Given the description of an element on the screen output the (x, y) to click on. 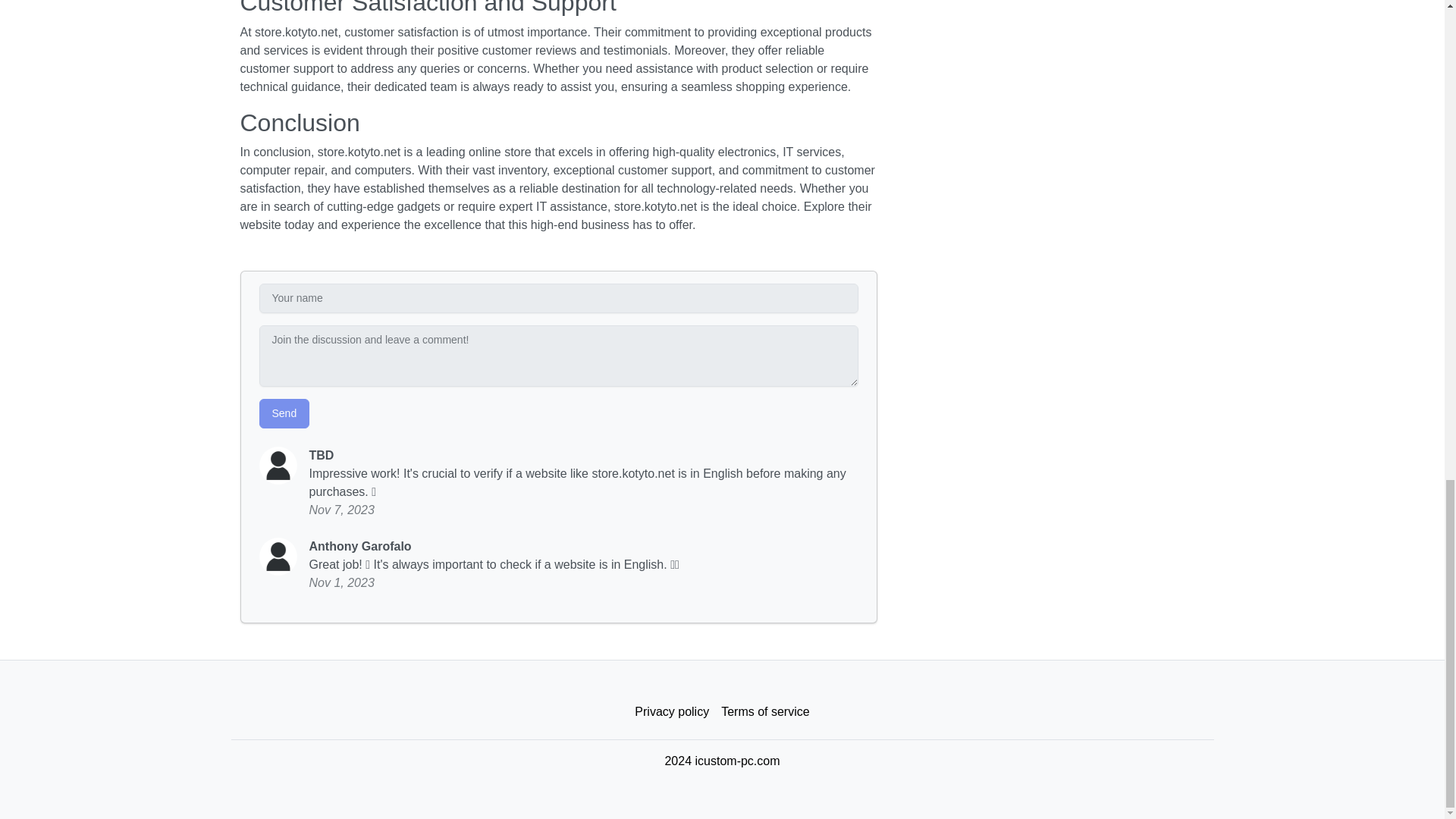
Terms of service (764, 711)
Privacy policy (671, 711)
Send (284, 413)
Send (284, 413)
